Given the description of an element on the screen output the (x, y) to click on. 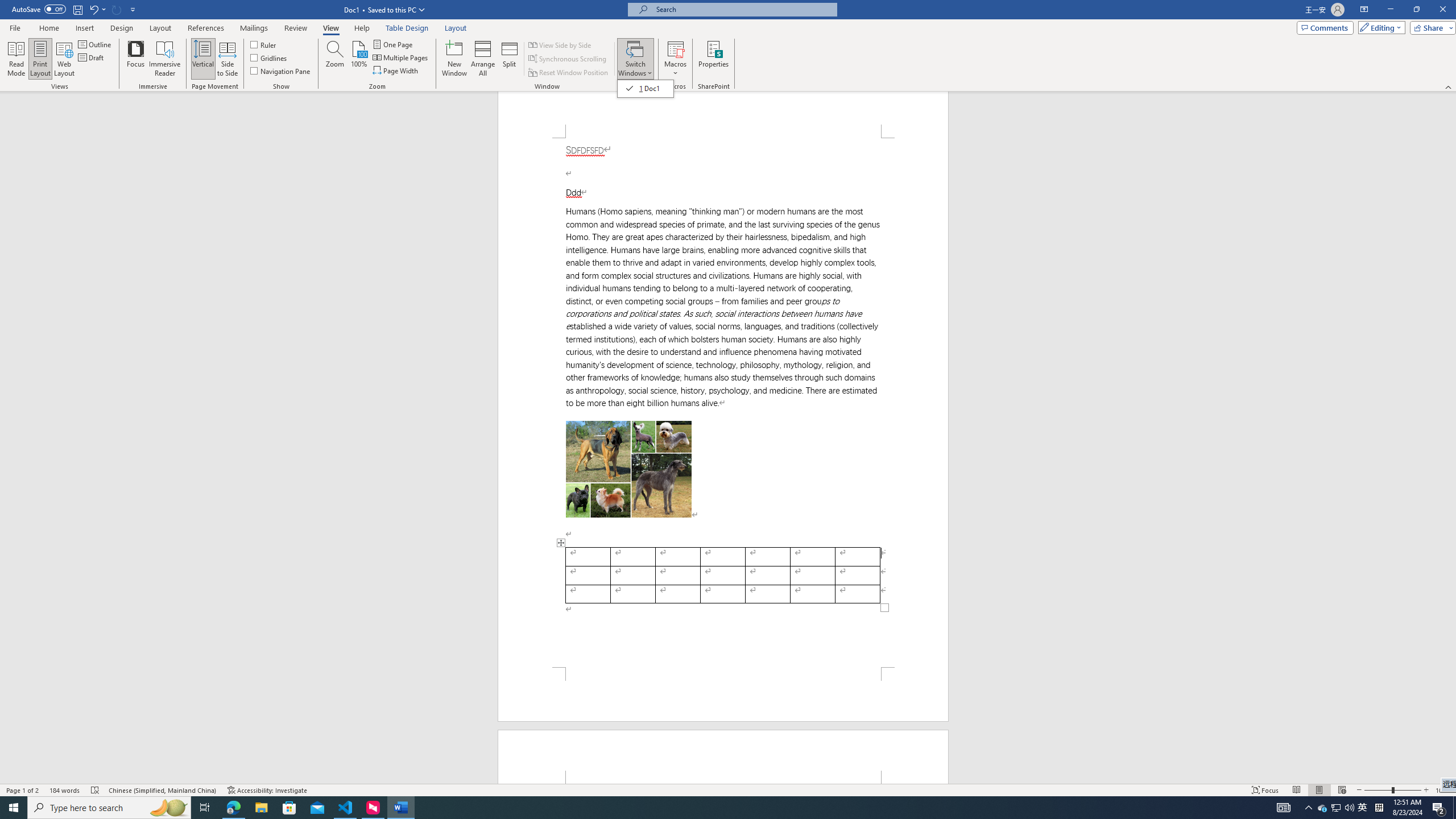
Zoom (1392, 790)
Macros (675, 58)
Page Width (396, 69)
Page 1 content (723, 402)
Home (48, 28)
Layout (455, 28)
Switch Windows (635, 58)
Running applications (700, 807)
Reset Window Position (569, 72)
Print Layout (40, 58)
Visual Studio Code - 1 running window (345, 807)
File Tab (15, 27)
Mailings (253, 28)
Table Design (407, 28)
